Given the description of an element on the screen output the (x, y) to click on. 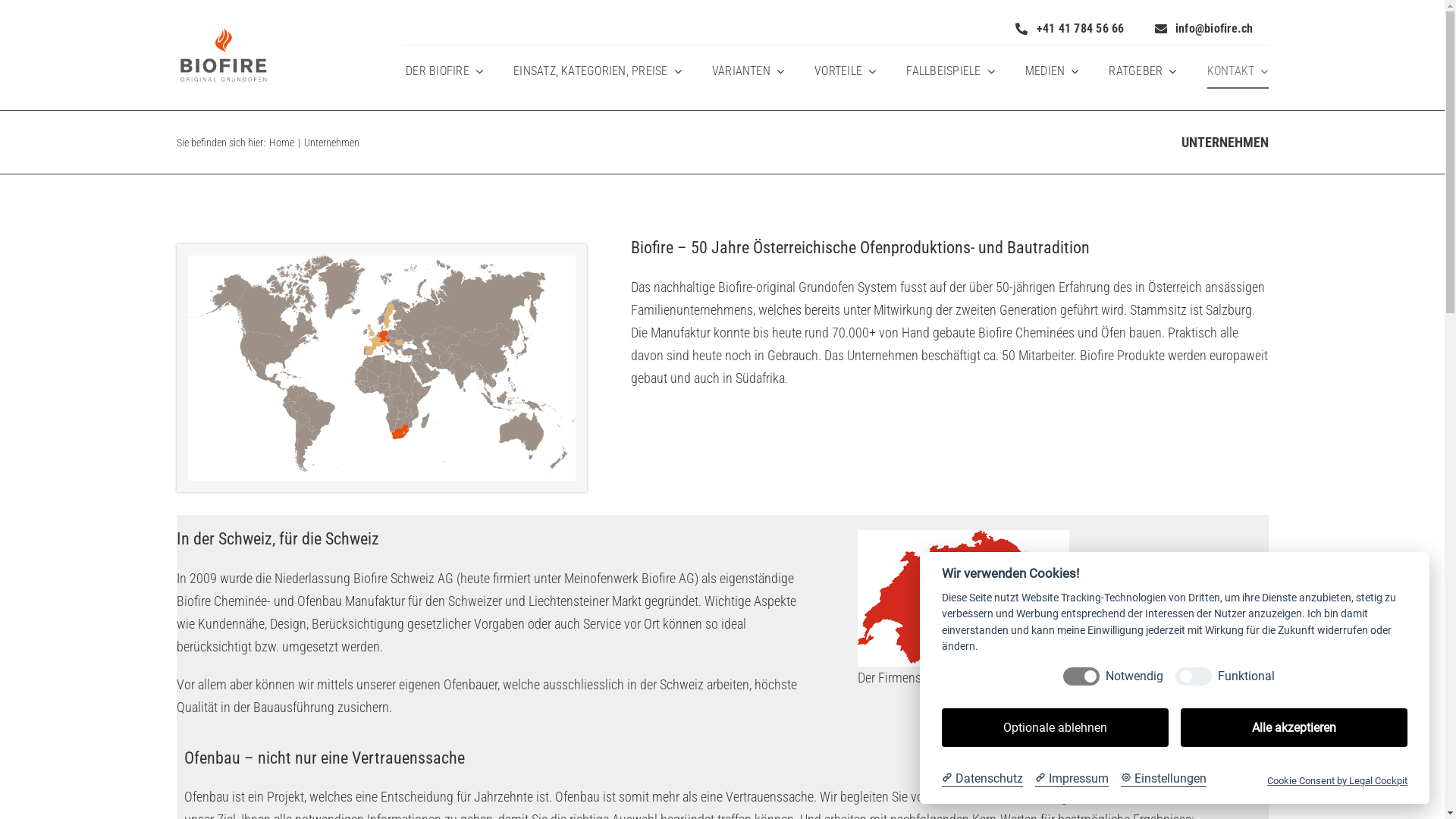
Schweiz Karte mit rotem Hintergrund Element type: hover (963, 536)
Datenschutz Element type: text (981, 778)
FALLBEISPIELE Element type: text (950, 71)
Home Element type: text (280, 142)
info@biofire.ch Element type: text (1203, 28)
VORTEILE Element type: text (844, 71)
+41 41 784 56 66 Element type: text (1069, 28)
EINSATZ, KATEGORIEN, PREISE Element type: text (597, 71)
MEDIEN Element type: text (1052, 71)
Optionale ablehnen Element type: text (1054, 727)
Cookie Consent by Legal Cockpit Element type: text (1337, 780)
RATGEBER Element type: text (1142, 71)
Impressum Element type: text (1071, 778)
DER BIOFIRE Element type: text (444, 71)
KONTAKT Element type: text (1237, 71)
Einstellungen Element type: text (1163, 778)
Alle akzeptieren Element type: text (1293, 727)
VARIANTEN Element type: text (748, 71)
